Given the description of an element on the screen output the (x, y) to click on. 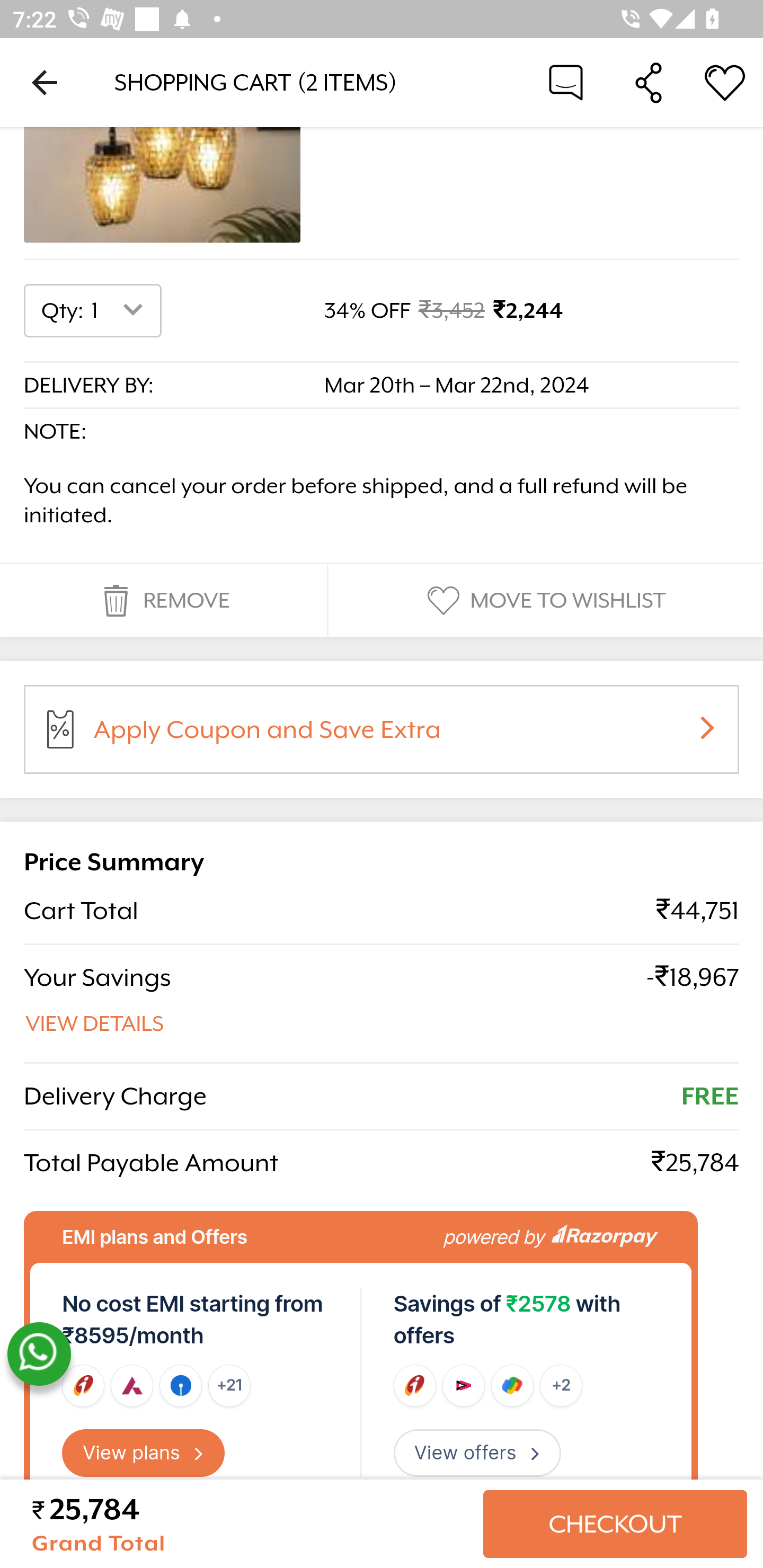
Navigate up (44, 82)
Chat (565, 81)
Share Cart (648, 81)
Wishlist (724, 81)
1 (121, 310)
REMOVE (163, 599)
MOVE TO WISHLIST (544, 599)
Apply Coupon and Save Extra (402, 734)
VIEW DETAILS (95, 1024)
whatsapp (38, 1353)
View plans (143, 1453)
View offers (476, 1453)
₹ 25,784 Grand Total (250, 1523)
CHECKOUT (614, 1523)
